Given the description of an element on the screen output the (x, y) to click on. 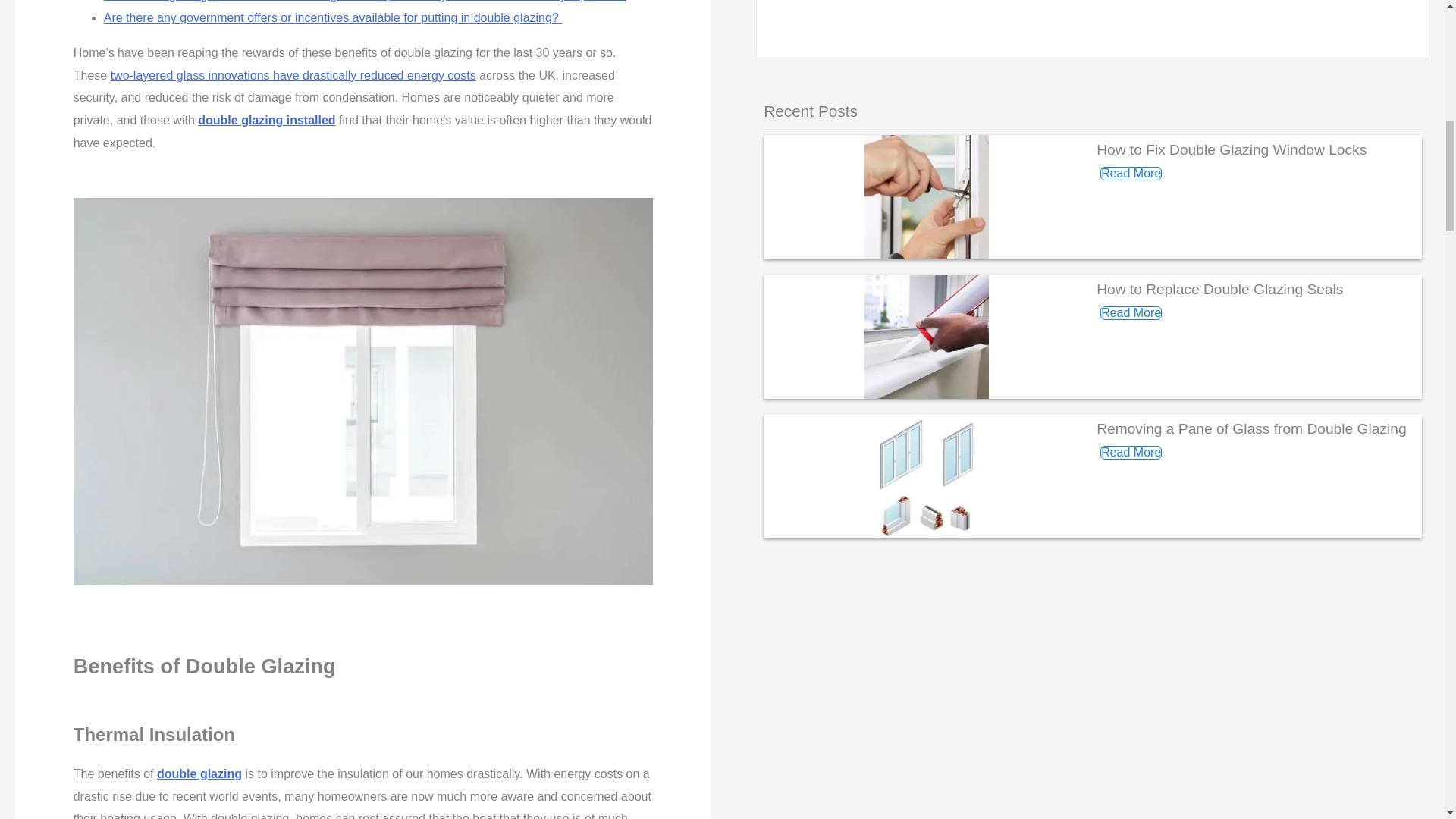
double glazing (199, 773)
How to Measure uPVC Windows (1092, 24)
double glazing installed (266, 119)
